Given the description of an element on the screen output the (x, y) to click on. 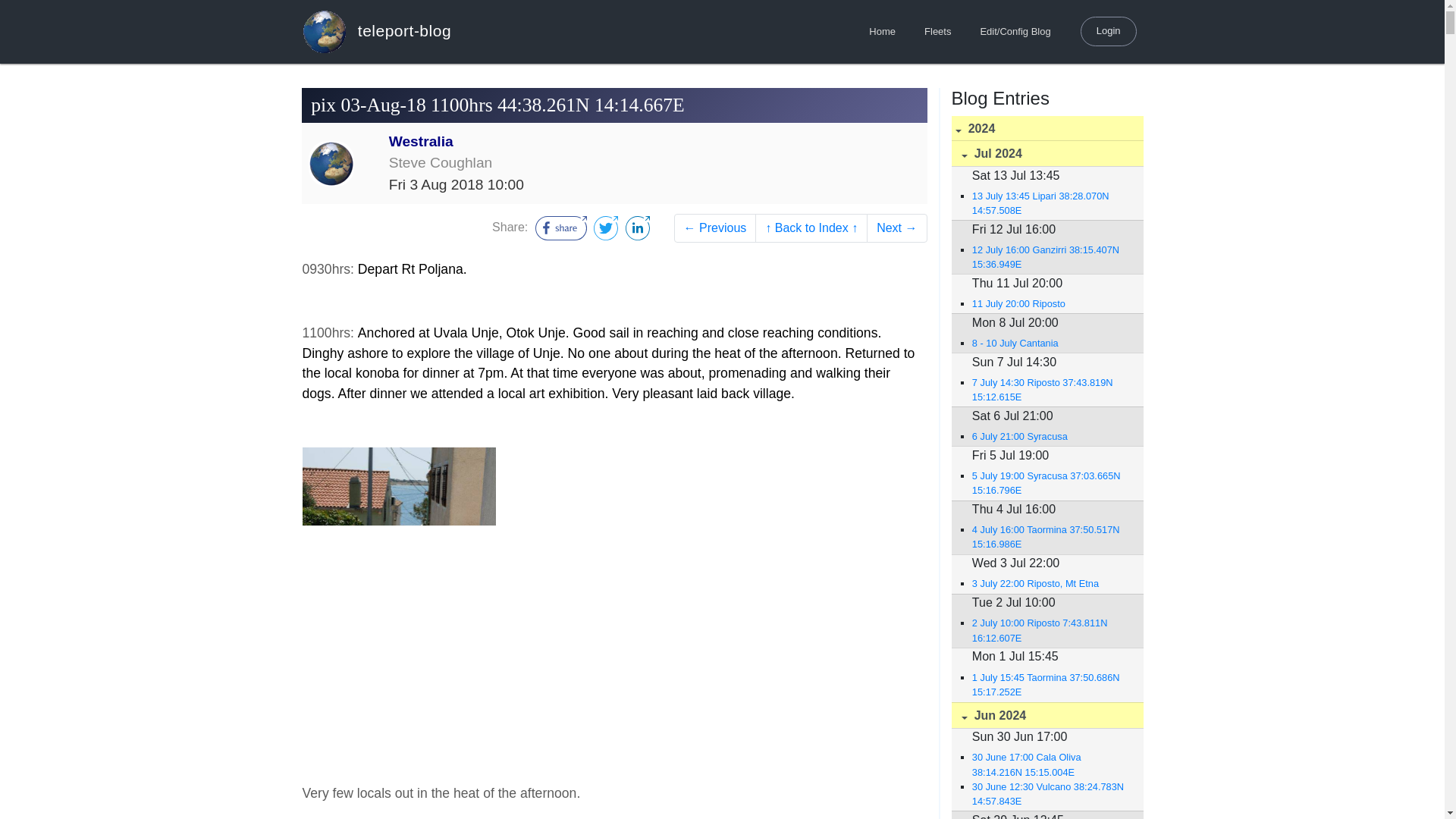
Login (1108, 30)
Jun 2024 (1046, 714)
11 July 20:00 Riposto (1050, 303)
Jul 2024 (1046, 153)
2 July 10:00 Riposto 7:43.811N 16:12.607E (1050, 629)
6 July 21:00 Syracusa (1050, 436)
8 - 10 July Cantania (1050, 342)
13 July 13:45 Lipari 38:28.070N 14:57.508E (1050, 203)
4 July 16:00 Taormina 37:50.517N 15:16.986E (1050, 536)
30 June 17:00 Cala Oliva 38:14.216N 15:15.004E (1050, 764)
3 July 22:00 Riposto, Mt Etna (1050, 583)
30 June 12:30 Vulcano 38:24.783N 14:57.843E (1050, 793)
teleport-blog (376, 31)
5 July 19:00 Syracusa 37:03.665N 15:16.796E (1050, 482)
12 July 16:00 Ganzirri 38:15.407N 15:36.949E (1050, 256)
